Given the description of an element on the screen output the (x, y) to click on. 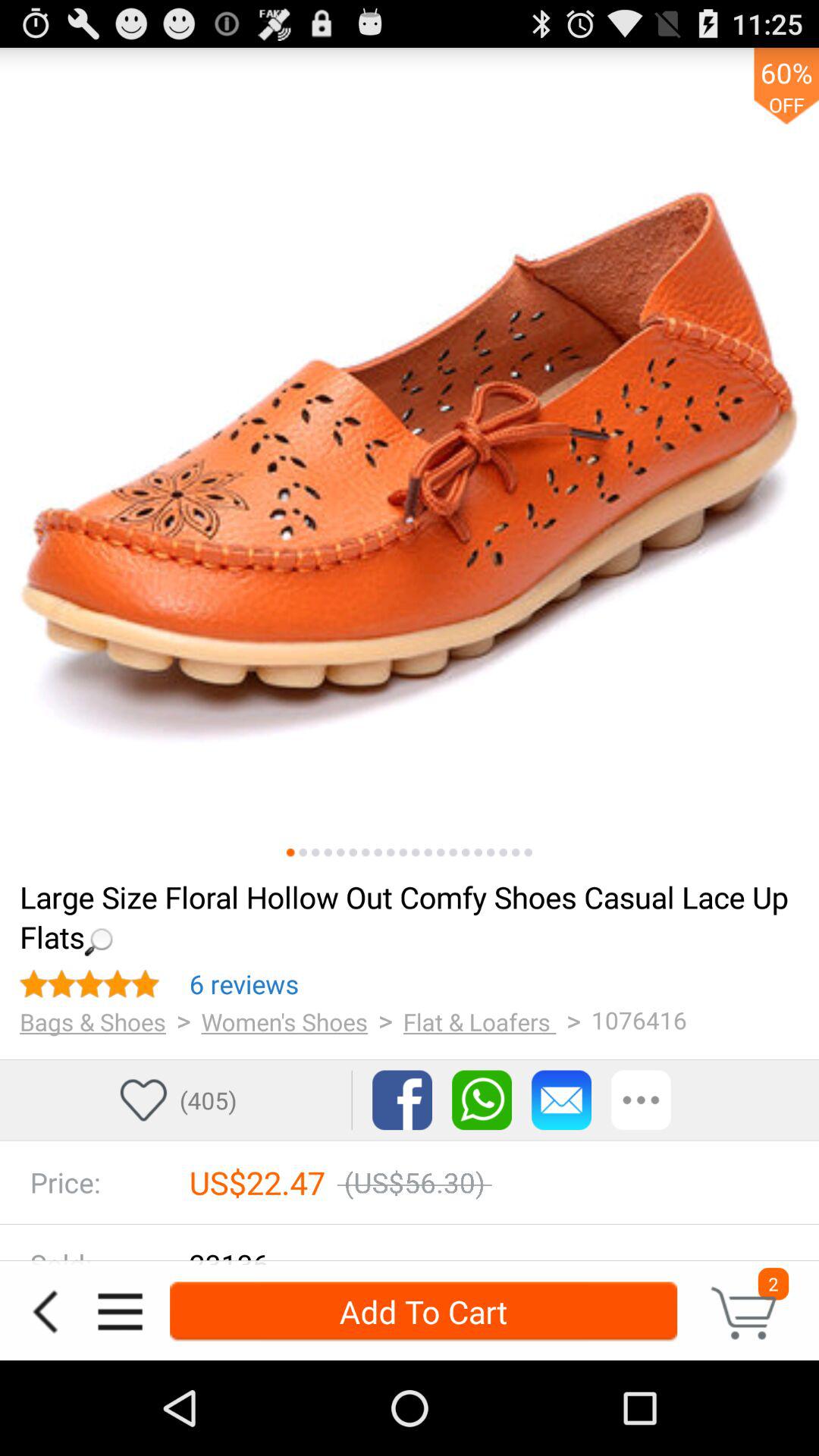
select image (415, 852)
